Given the description of an element on the screen output the (x, y) to click on. 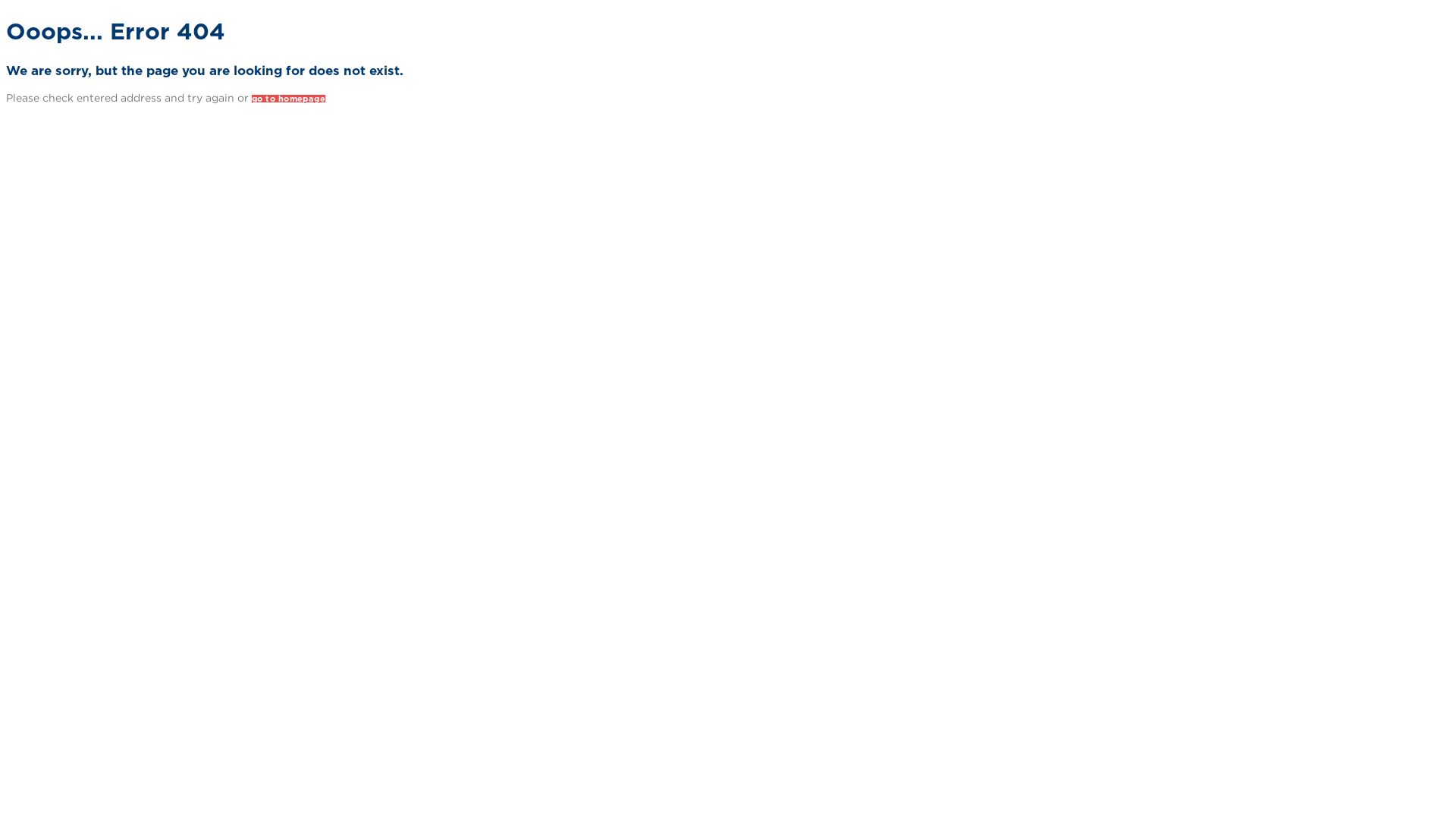
go to homepage Element type: text (288, 98)
